Given the description of an element on the screen output the (x, y) to click on. 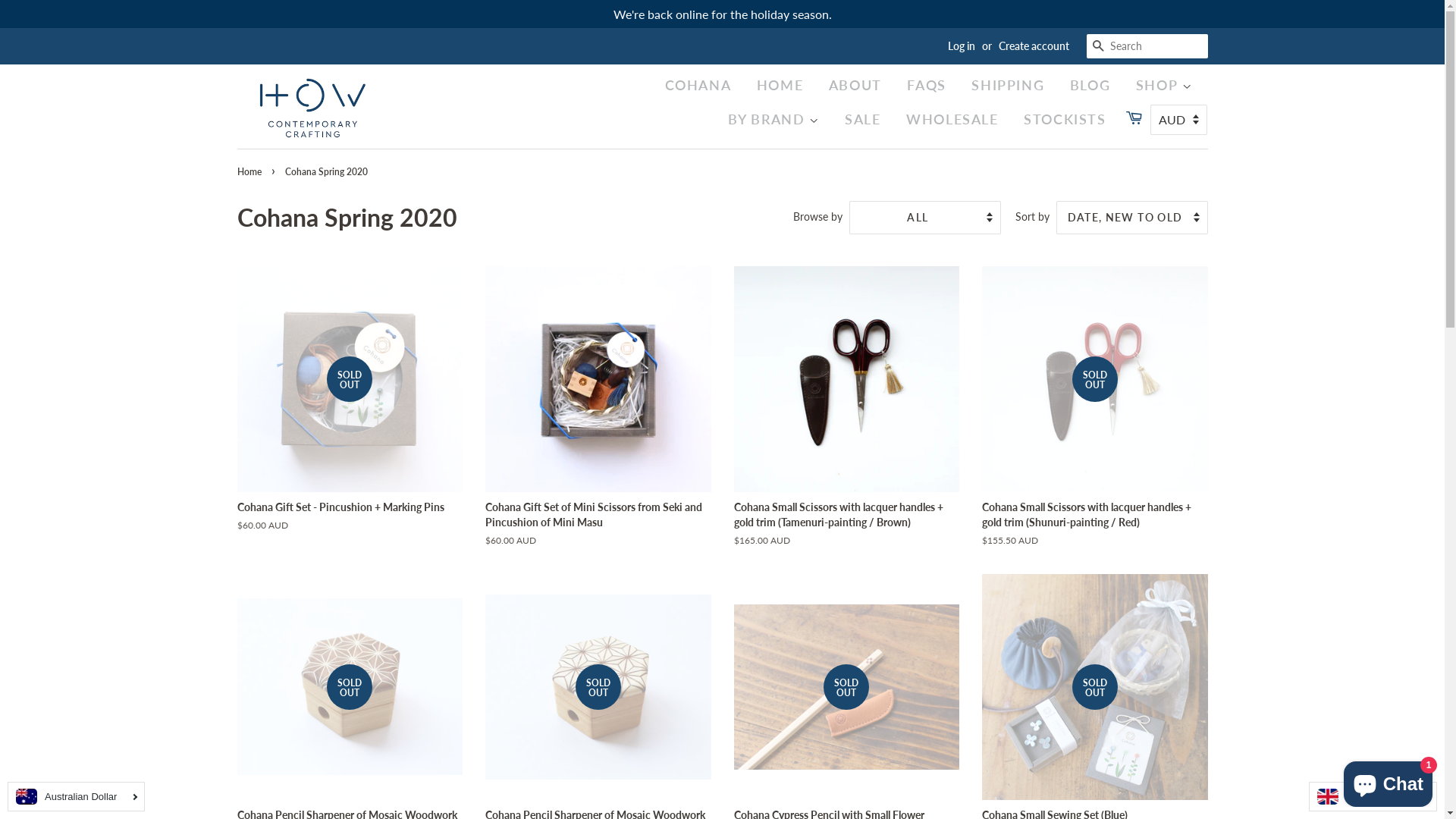
STOCKISTS Element type: text (1068, 119)
SHIPPING Element type: text (1012, 85)
HOME Element type: text (784, 85)
SHOP Element type: text (1168, 85)
Shopify online store chat Element type: hover (1388, 780)
Create account Element type: text (1032, 45)
BY BRAND Element type: text (777, 119)
SEARCH Element type: text (1097, 46)
COHANA Element type: text (705, 85)
Home Element type: text (250, 171)
Log in Element type: text (961, 45)
FAQS Element type: text (930, 85)
BLOG Element type: text (1094, 85)
Australian Dollar Element type: text (75, 796)
SALE Element type: text (866, 119)
English Element type: text (1372, 796)
WHOLESALE Element type: text (956, 119)
ABOUT Element type: text (859, 85)
